Given the description of an element on the screen output the (x, y) to click on. 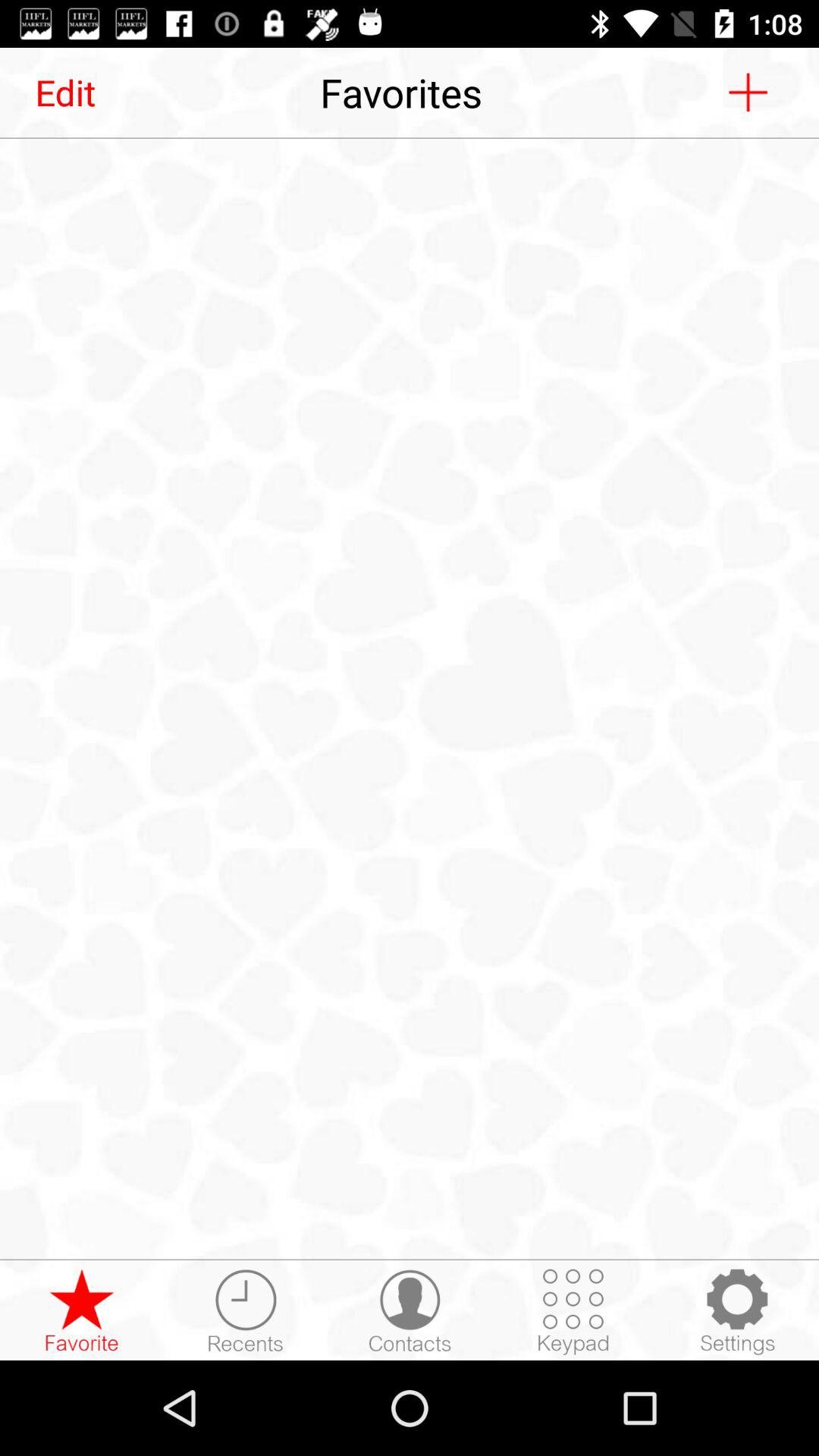
toggle keyboard (573, 1311)
